Given the description of an element on the screen output the (x, y) to click on. 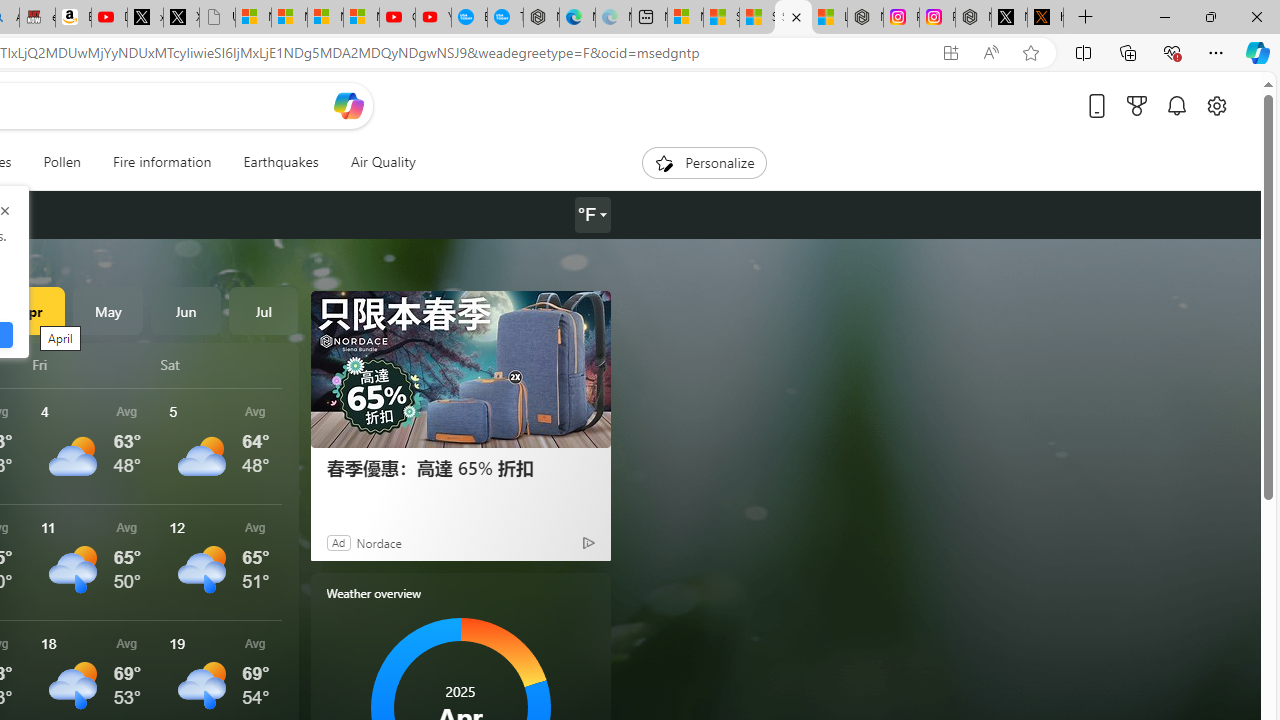
May (107, 310)
Open Copilot (347, 105)
Notifications (1176, 105)
Nordace - Nordace has arrived Hong Kong (541, 17)
Day 1: Arriving in Yemen (surreal to be here) - YouTube (109, 17)
Fire information (162, 162)
